Given the description of an element on the screen output the (x, y) to click on. 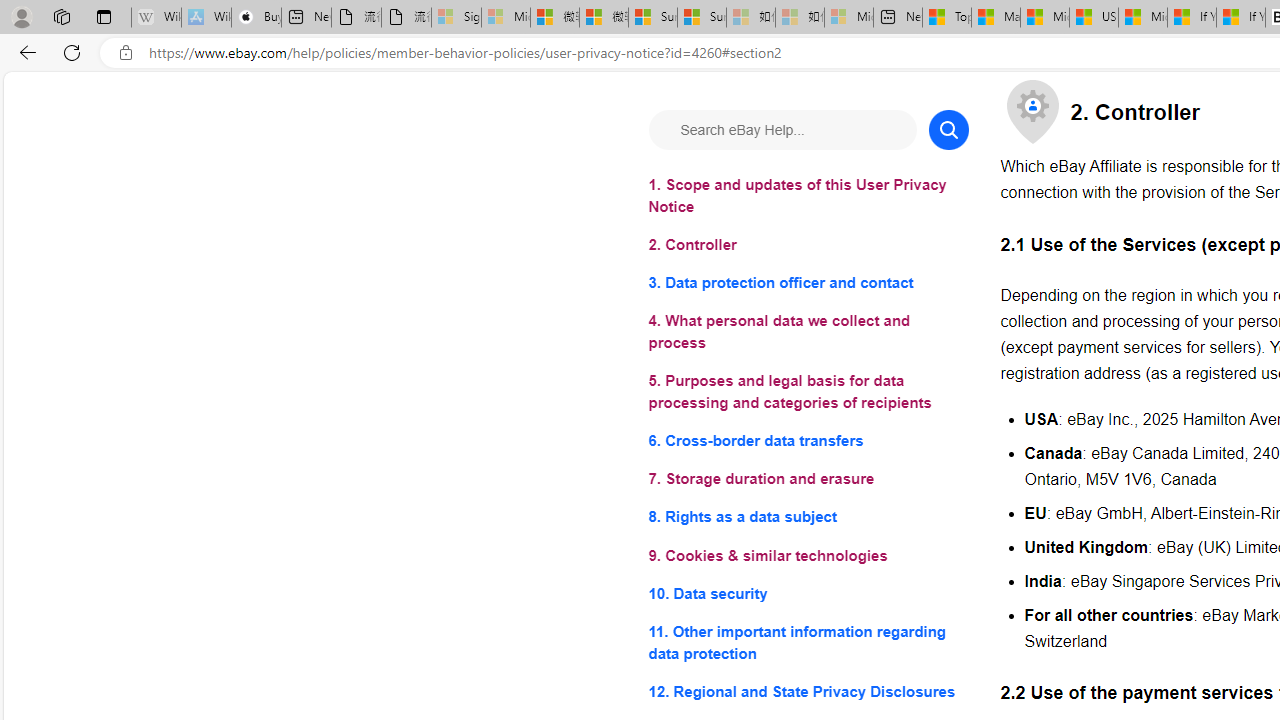
1. Scope and updates of this User Privacy Notice (807, 196)
8. Rights as a data subject (807, 517)
